Given the description of an element on the screen output the (x, y) to click on. 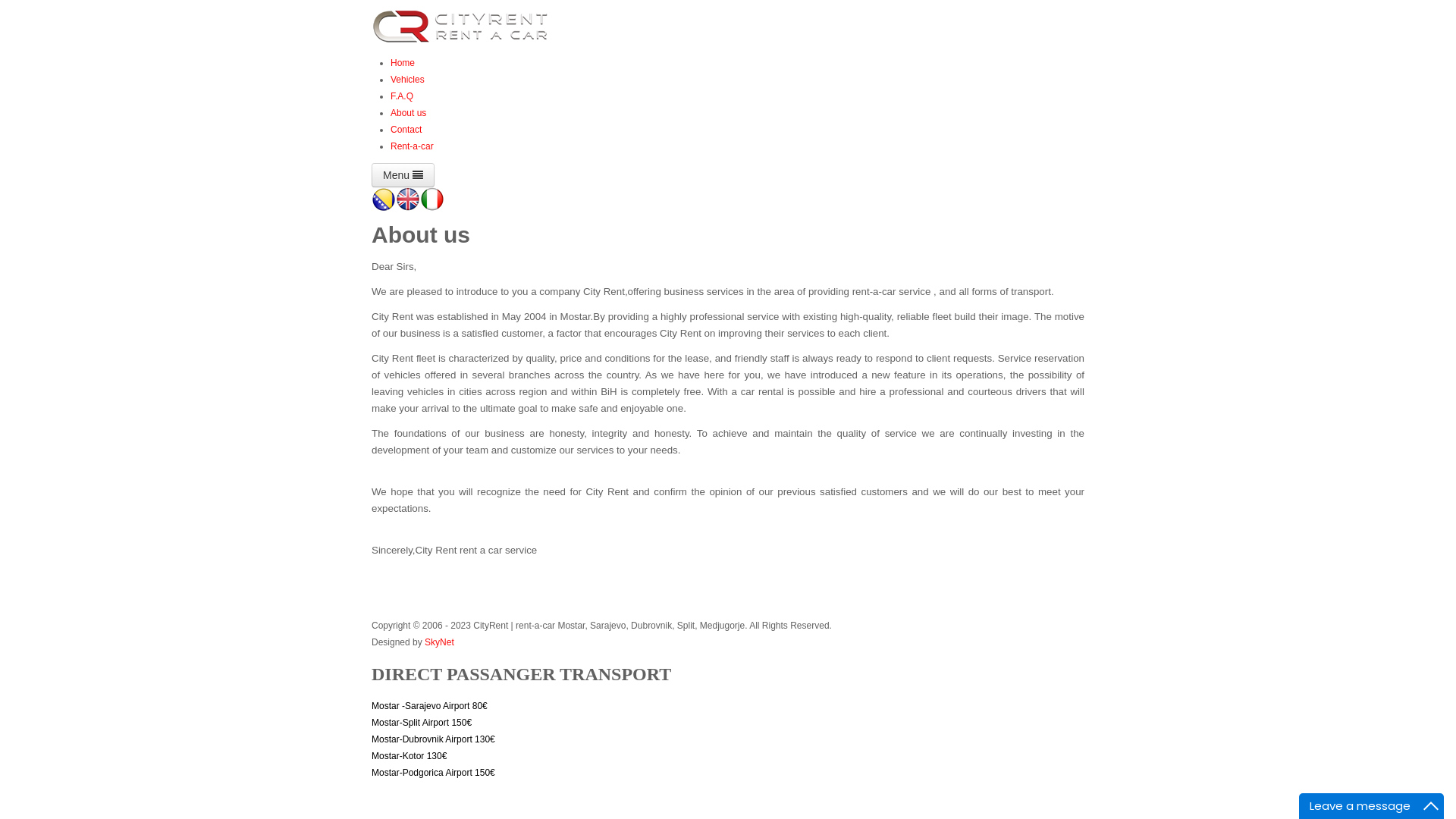
About us Element type: text (408, 112)
ItalianIT Element type: hover (432, 199)
Maximize Element type: hover (1430, 806)
F.A.Q Element type: text (401, 96)
Menu Element type: text (402, 175)
Home Element type: text (402, 62)
SkyNet Element type: text (439, 642)
Vehicles Element type: text (407, 79)
Contact Element type: text (405, 129)
English (UK) Element type: hover (407, 199)
Rent-a-car Element type: text (411, 146)
BosnianBA Element type: hover (383, 199)
